Given the description of an element on the screen output the (x, y) to click on. 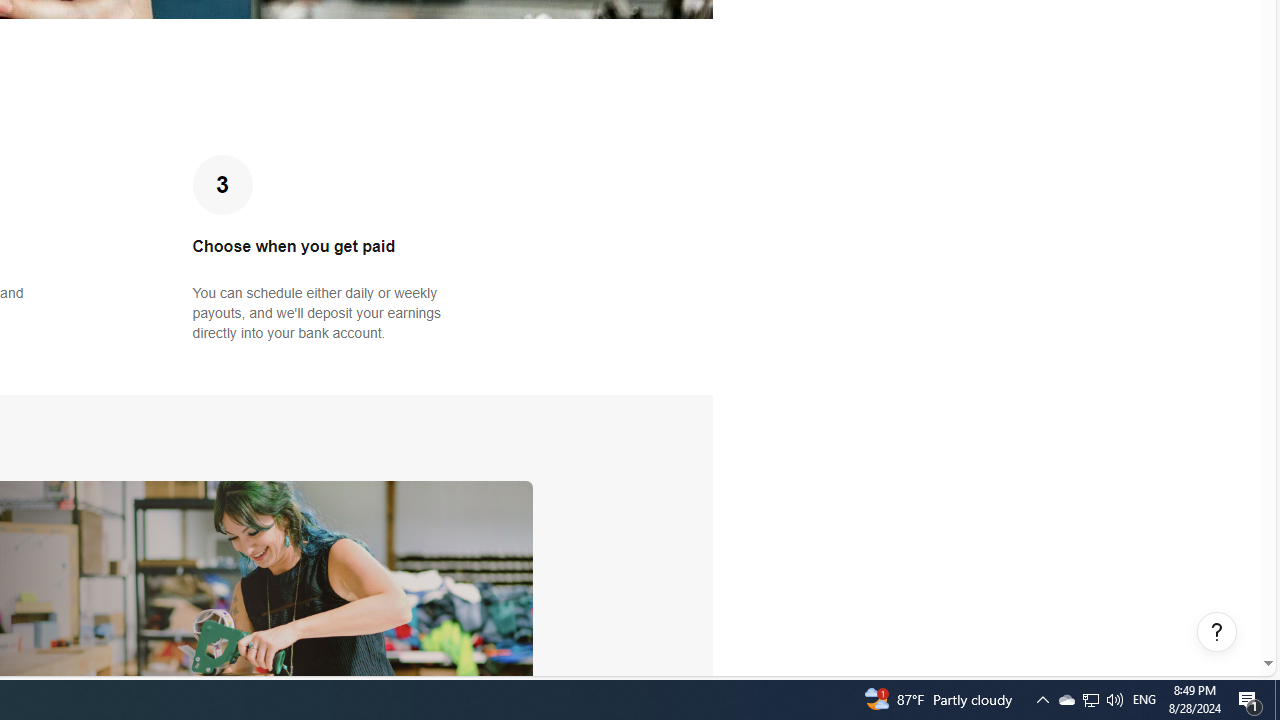
Help, opens dialogs (1217, 632)
